Given the description of an element on the screen output the (x, y) to click on. 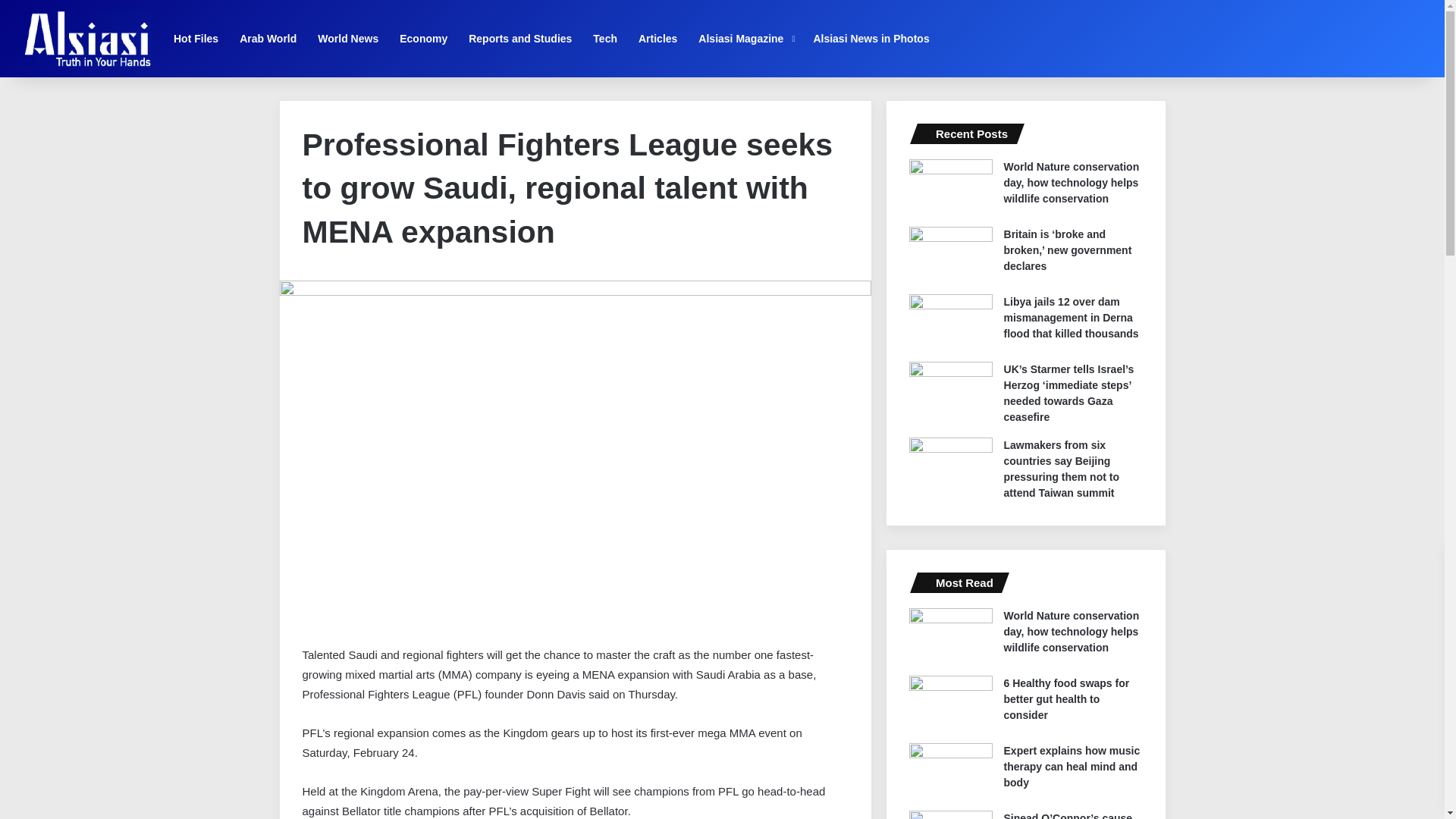
Arab World (267, 38)
Reports and Studies (520, 38)
Alsiasi News in Photos (870, 38)
World News (347, 38)
Economy (423, 38)
Alsiasi Magazine (744, 38)
Alsiasi (87, 38)
